Given the description of an element on the screen output the (x, y) to click on. 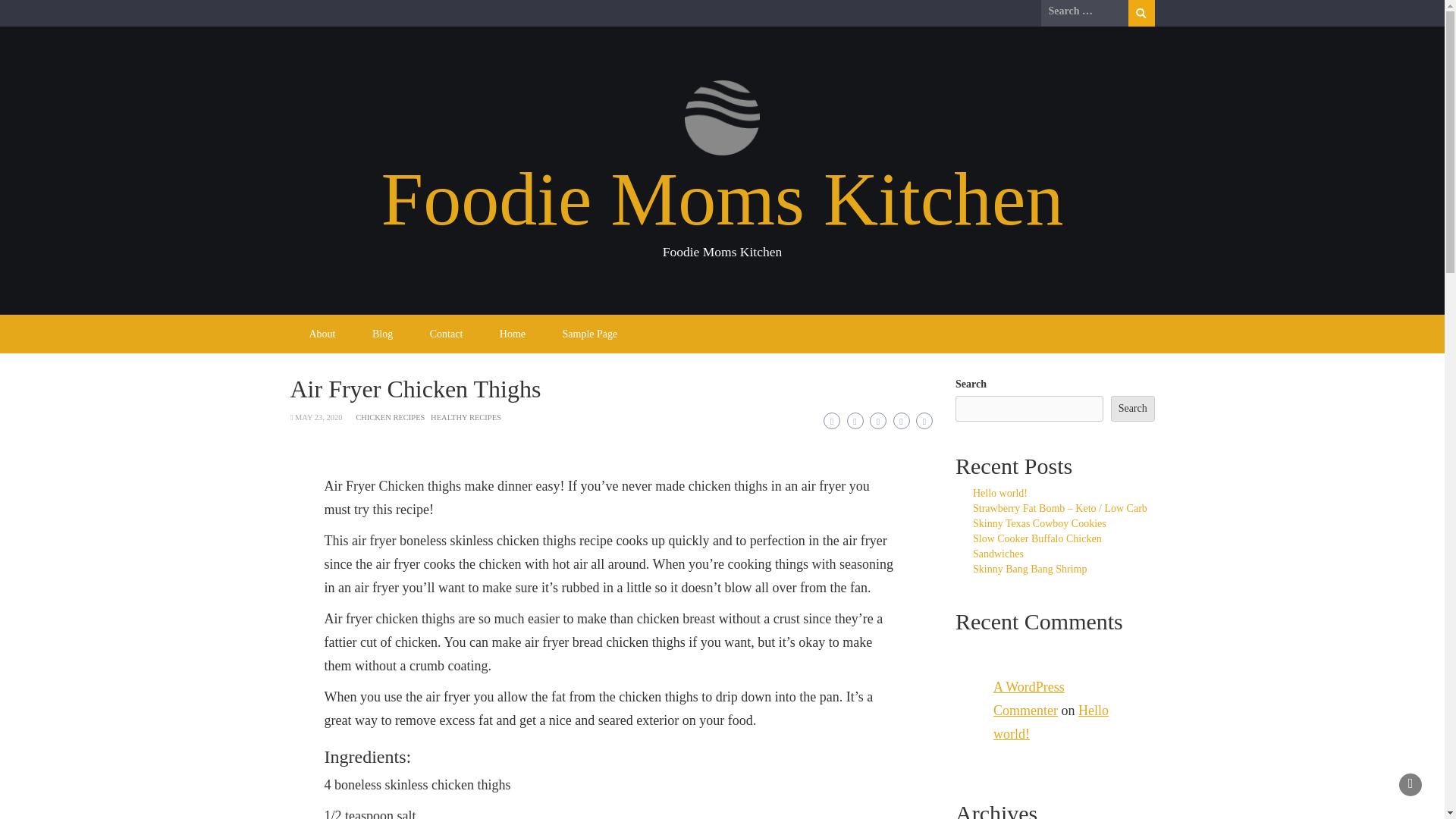
Home (512, 333)
Search (1132, 408)
Hello world! (999, 492)
Search (1141, 13)
Contact (446, 333)
MAY 23, 2020 (318, 417)
About (322, 333)
Slow Cooker Buffalo Chicken Sandwiches (1037, 546)
Blog (381, 333)
Search (1141, 13)
CHICKEN RECIPES (390, 417)
HEALTHY RECIPES (465, 417)
Skinny Bang Bang Shrimp (1029, 568)
Search (1141, 13)
Sample Page (590, 333)
